Given the description of an element on the screen output the (x, y) to click on. 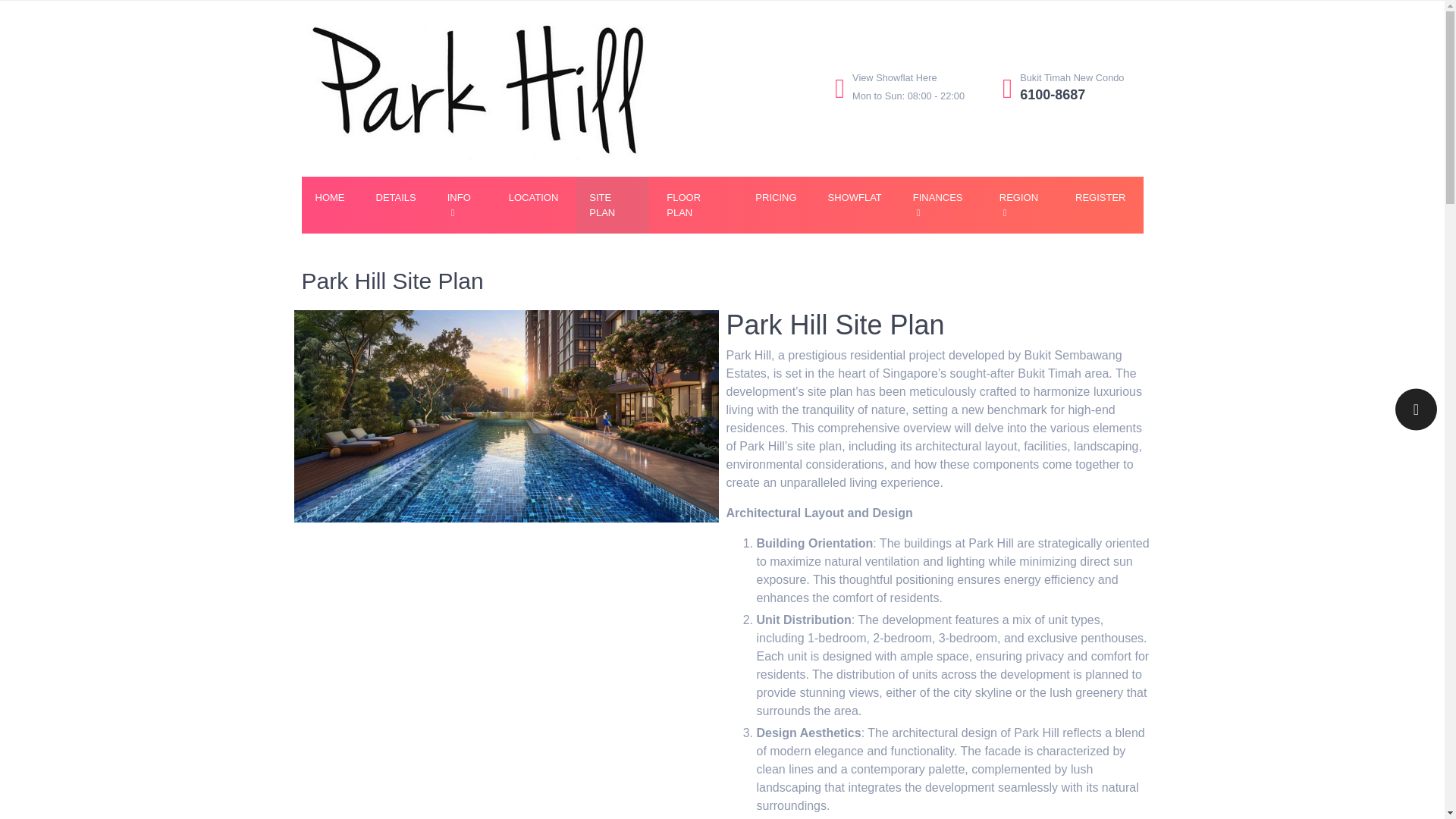
REGION (1021, 204)
Site Plan (612, 204)
INFO (462, 204)
Home (329, 197)
HOME (329, 197)
DETAILS (395, 197)
LOCATION (899, 87)
FINANCES (533, 197)
Info (940, 204)
FLOOR PLAN (462, 204)
Pricing (695, 204)
Location (775, 197)
REGISTER (533, 197)
